Given the description of an element on the screen output the (x, y) to click on. 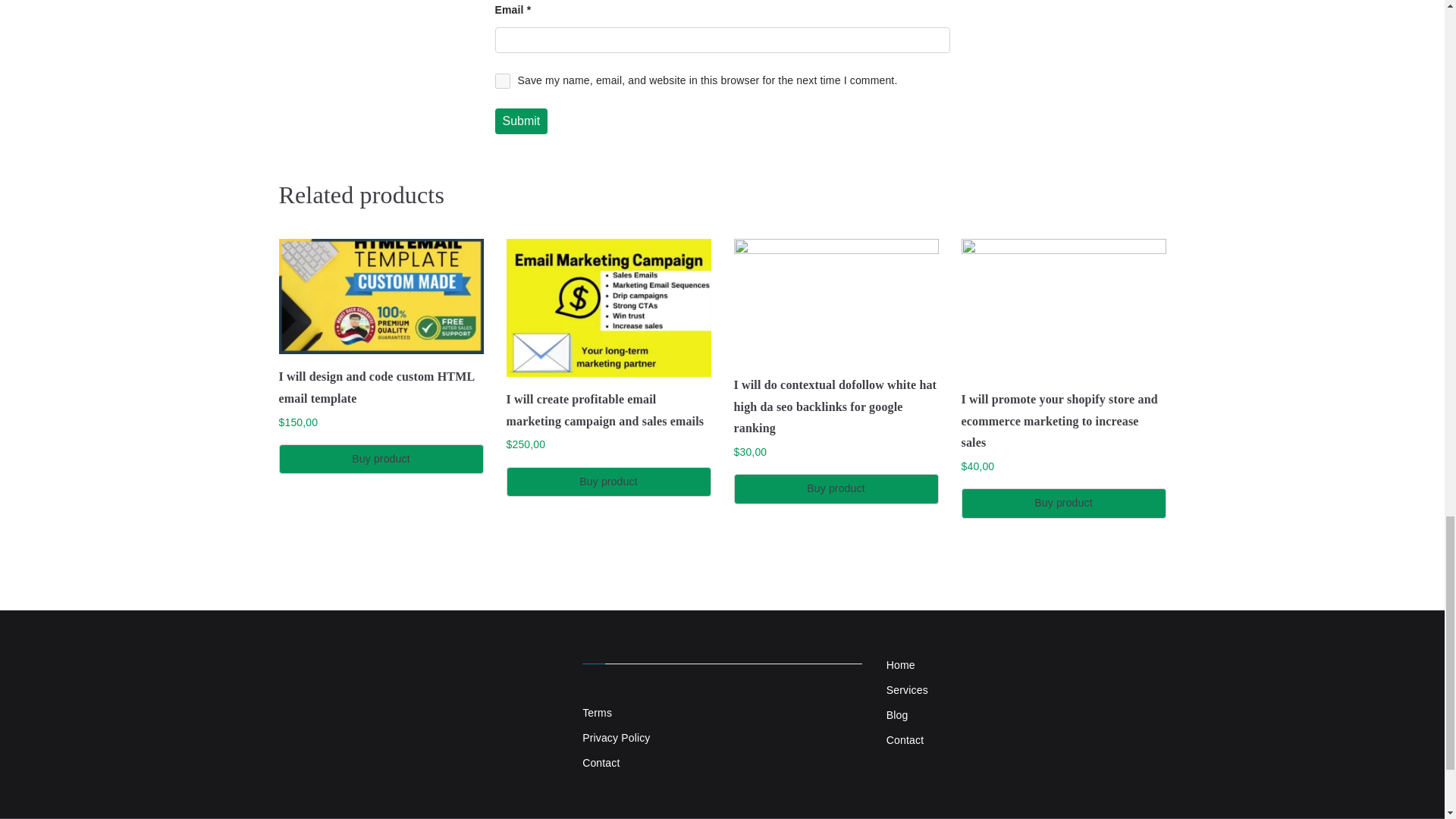
Terms (721, 712)
Buy product (1063, 502)
yes (502, 80)
Buy product (836, 488)
Buy product (608, 481)
Submit (521, 121)
Buy product (381, 459)
Submit (521, 121)
